Given the description of an element on the screen output the (x, y) to click on. 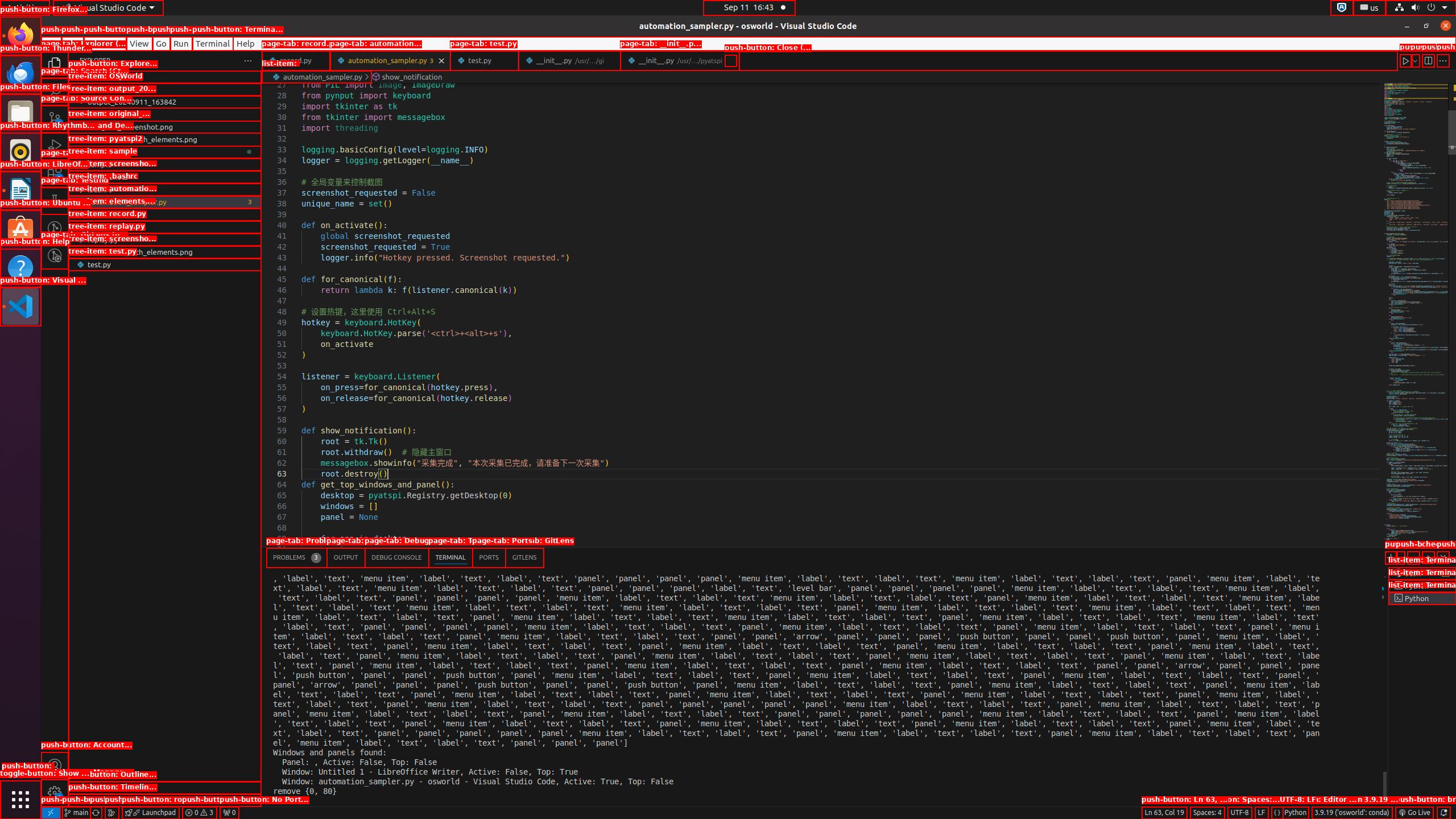
Run or Debug... Element type: push-button (1414, 60)
OSWorld (Git) - main, Checkout Branch/Tag... Element type: push-button (75, 812)
OSWorld Element type: tree-item (164, 89)
UTF-8 Element type: push-button (1239, 812)
